Given the description of an element on the screen output the (x, y) to click on. 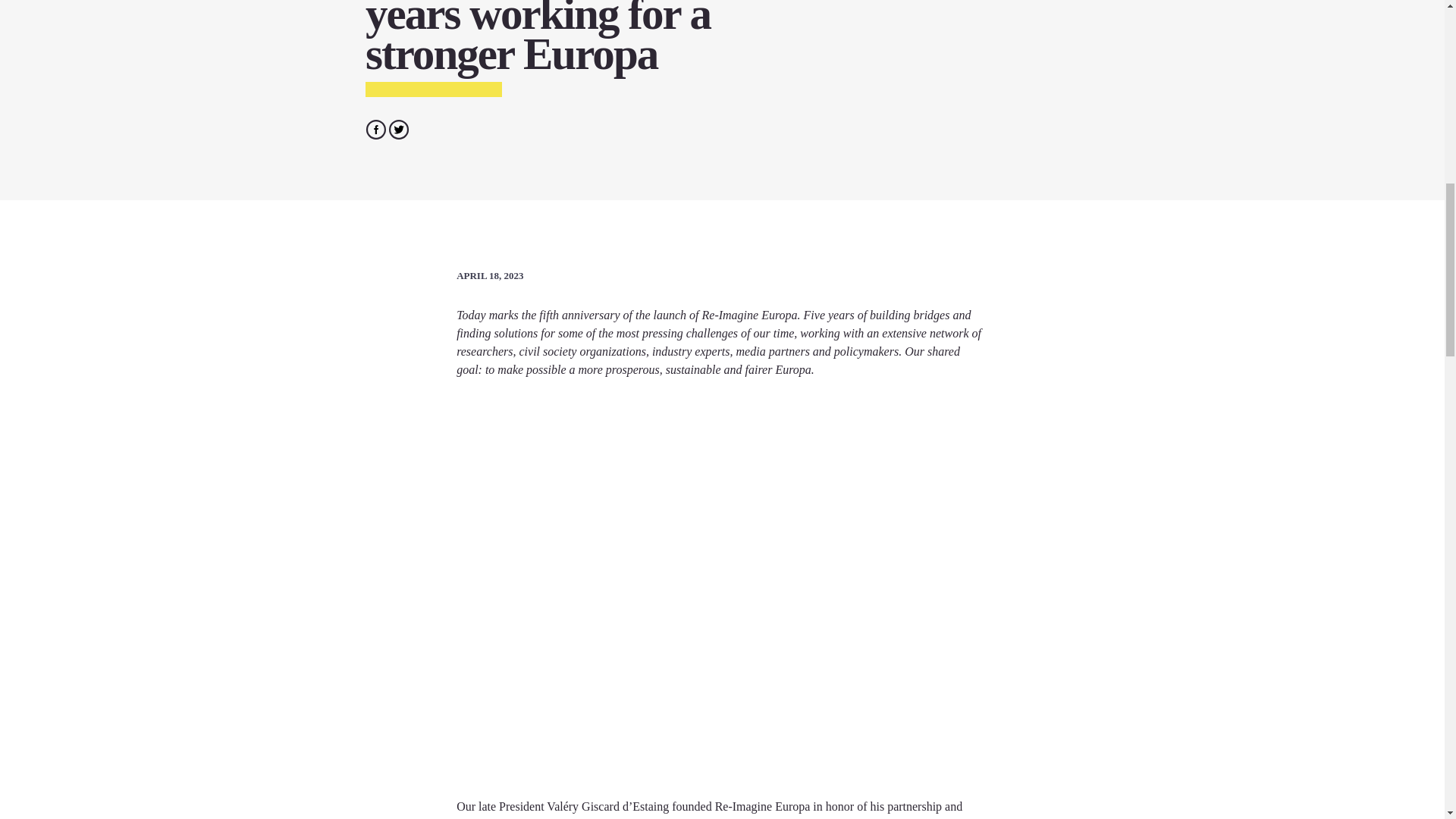
Twitter Created with Sketch. (398, 129)
Twitter Created with Sketch. (398, 128)
Facebook (375, 129)
Facebook (376, 128)
